Given the description of an element on the screen output the (x, y) to click on. 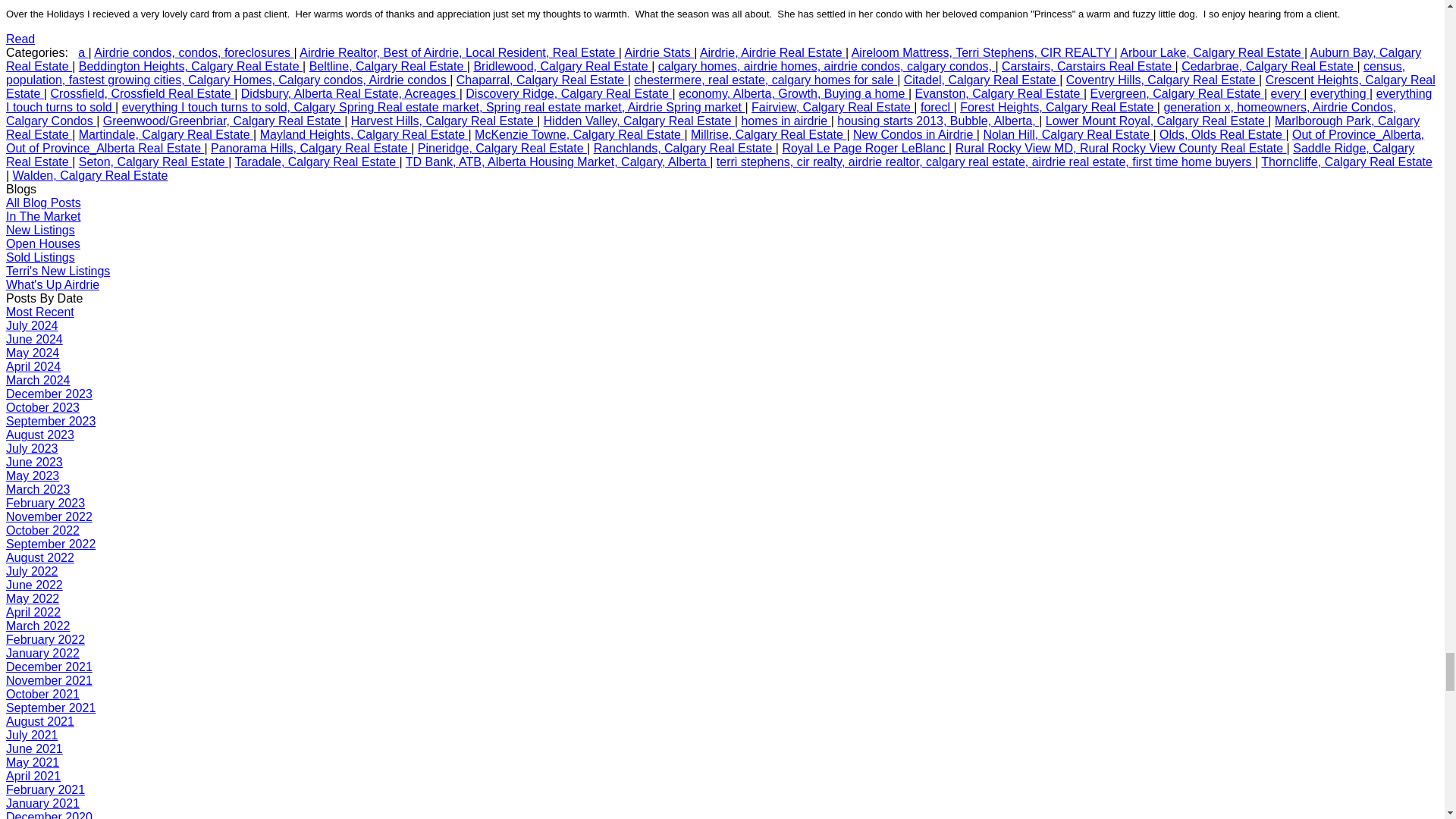
Read (19, 38)
Airdrie condos, condos, foreclosures (194, 51)
